Given the description of an element on the screen output the (x, y) to click on. 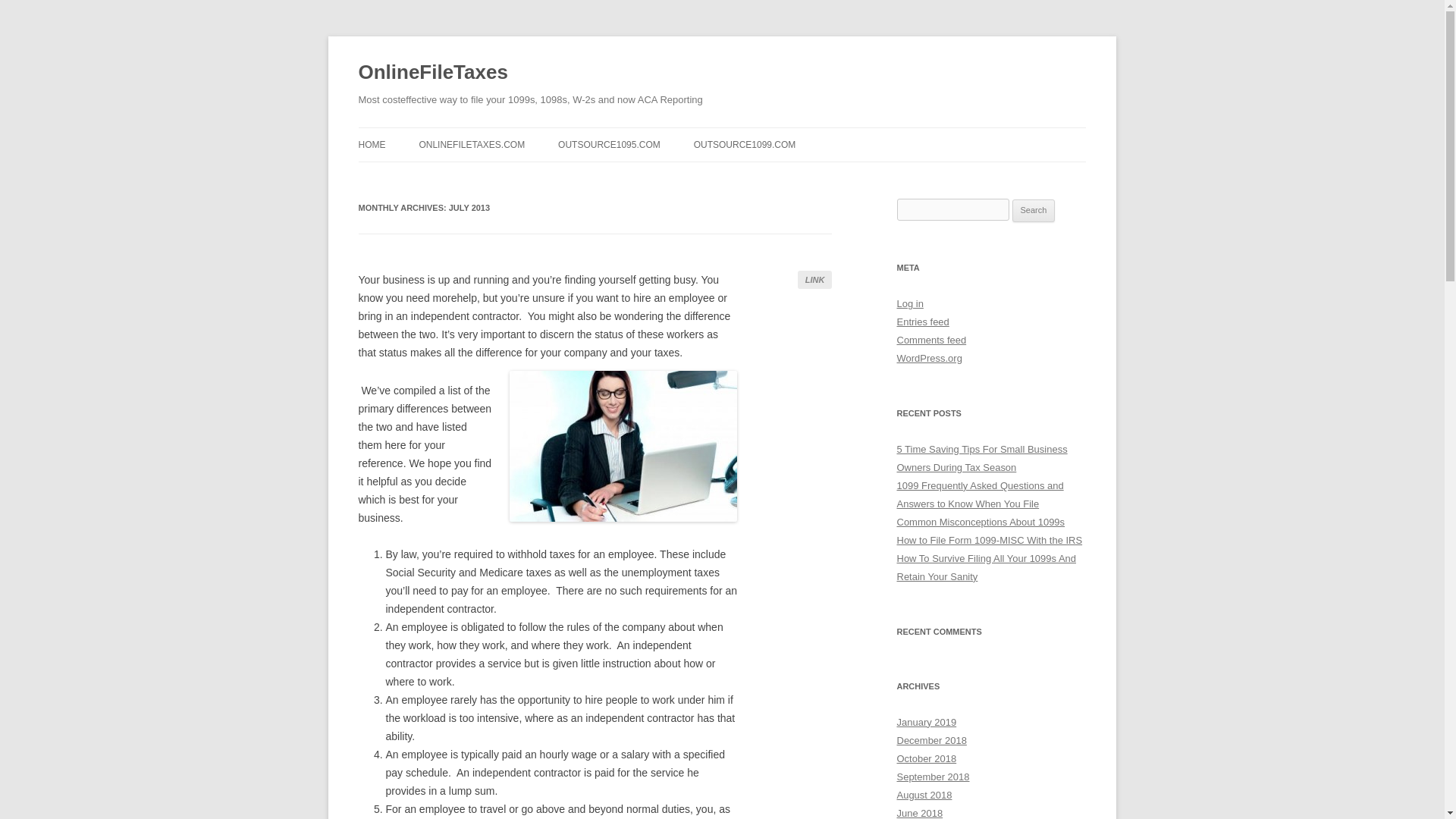
Entries feed (922, 321)
WordPress.org (928, 357)
ONLINEFILETAXES.COM (471, 144)
Log in (909, 303)
Search (1033, 210)
Comments feed (931, 339)
OUTSOURCE1099.COM (745, 144)
OUTSOURCE1095.COM (609, 144)
Search (1033, 210)
OnlineFileTaxes (432, 72)
OnlineFileTaxes (432, 72)
